Given the description of an element on the screen output the (x, y) to click on. 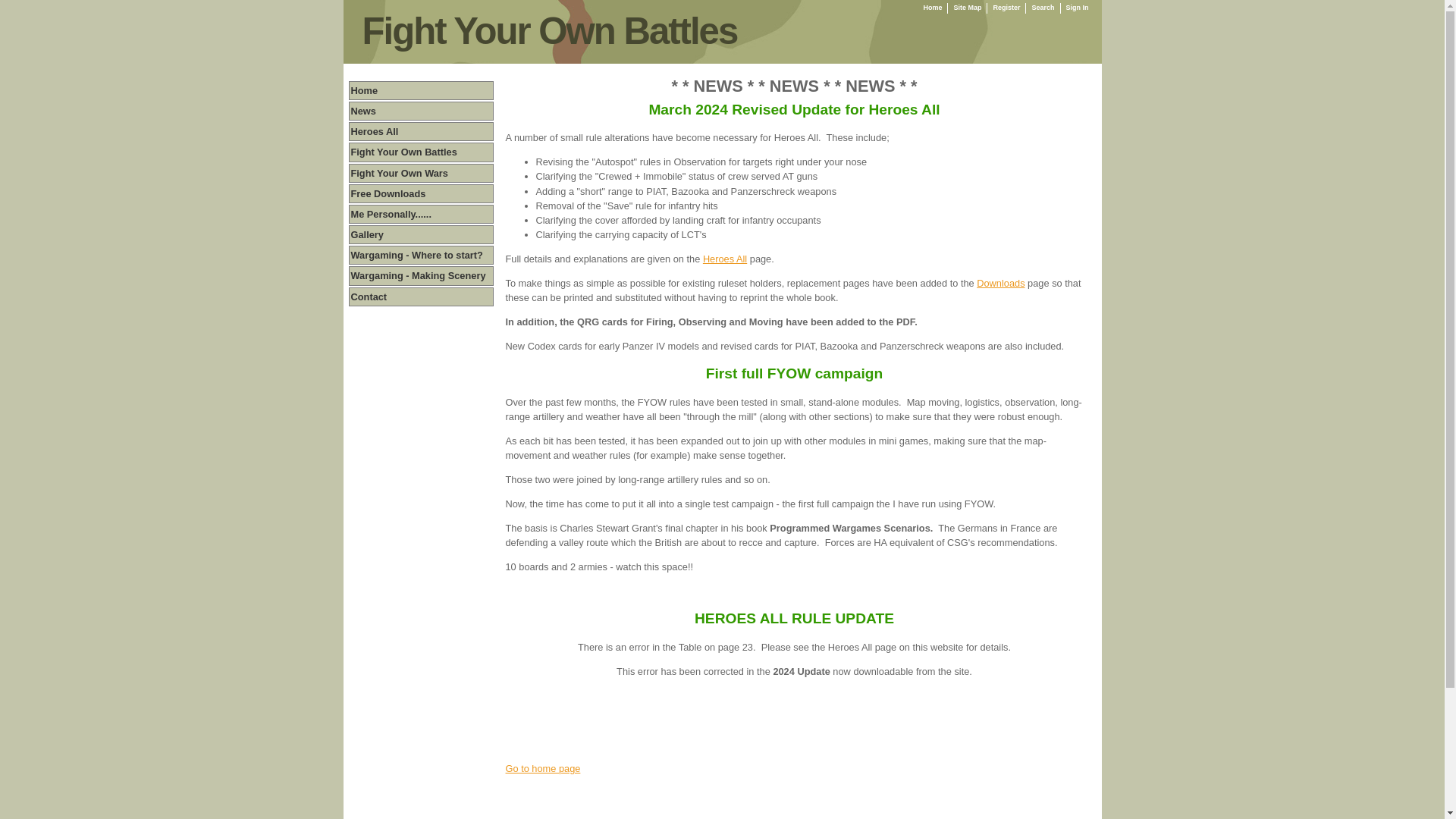
Home (363, 90)
Gallery (366, 234)
Heroes All (724, 258)
Wargaming - Where to start? (415, 255)
Free Downloads (387, 193)
Me Personally...... (390, 214)
Search (1042, 7)
Fight Your Own Battles (403, 152)
Fight Your Own Wars (398, 173)
Heroes All (373, 131)
News (362, 111)
Downloads (1000, 283)
Register (1006, 7)
Home (932, 7)
Site Map (967, 7)
